Given the description of an element on the screen output the (x, y) to click on. 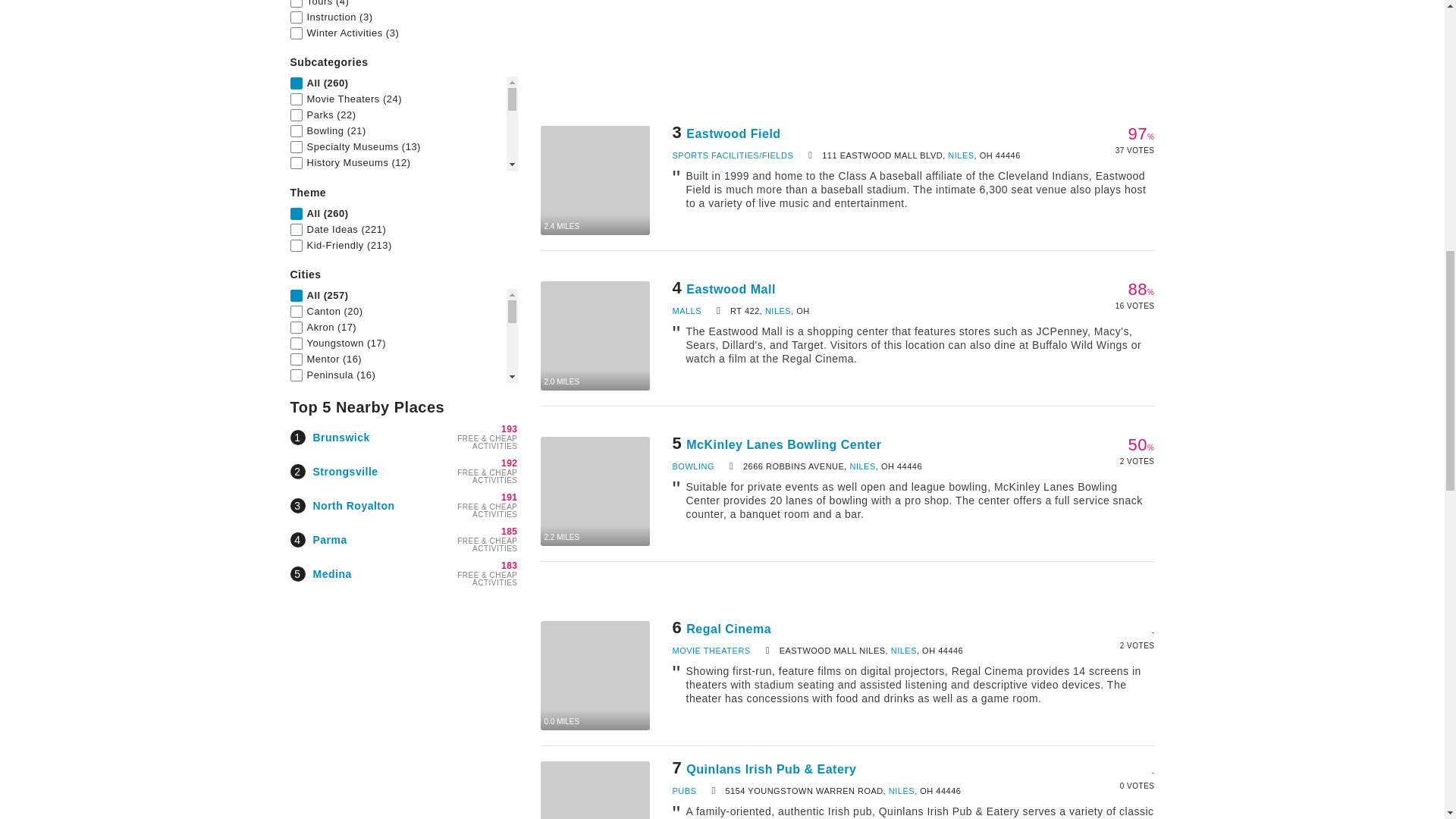
Parma (329, 539)
192 (509, 462)
Strongsville (345, 471)
191 (509, 497)
Brunswick (341, 436)
North Royalton (353, 504)
193 (509, 429)
185 (509, 531)
183 (509, 565)
Medina (331, 573)
